Given the description of an element on the screen output the (x, y) to click on. 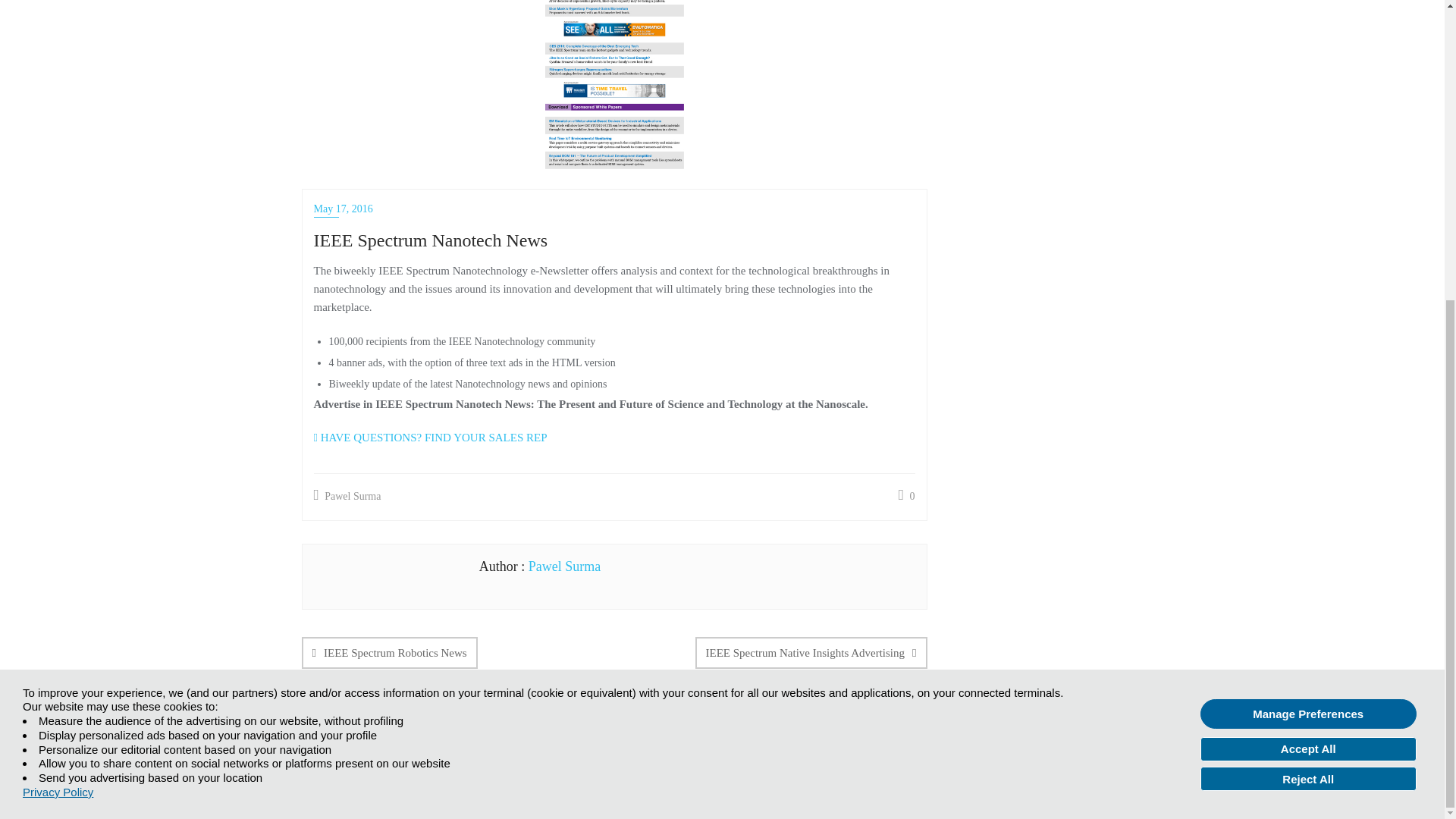
Manage Preferences (1307, 246)
Privacy Policy (58, 325)
Reject All (1307, 311)
Accept All (1307, 282)
